Given the description of an element on the screen output the (x, y) to click on. 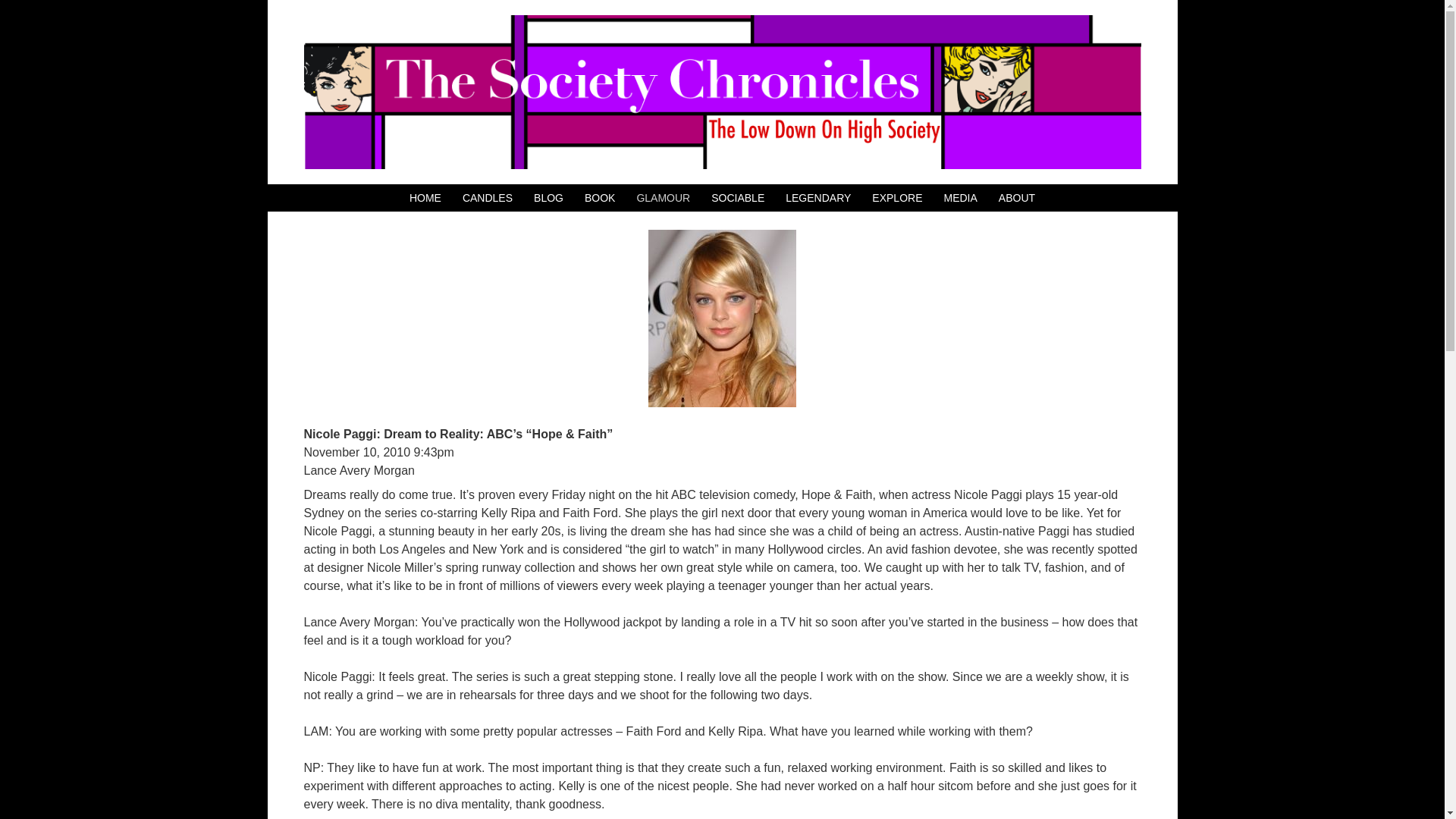
HOME (425, 197)
ABOUT (1016, 197)
GLAMOUR (663, 197)
CANDLES (487, 197)
MEDIA (959, 197)
THE SOCIETY CHRONICLES (721, 91)
LEGENDARY (818, 197)
BLOG (548, 197)
EXPLORE (896, 197)
SOCIABLE (737, 197)
BOOK (599, 197)
